Given the description of an element on the screen output the (x, y) to click on. 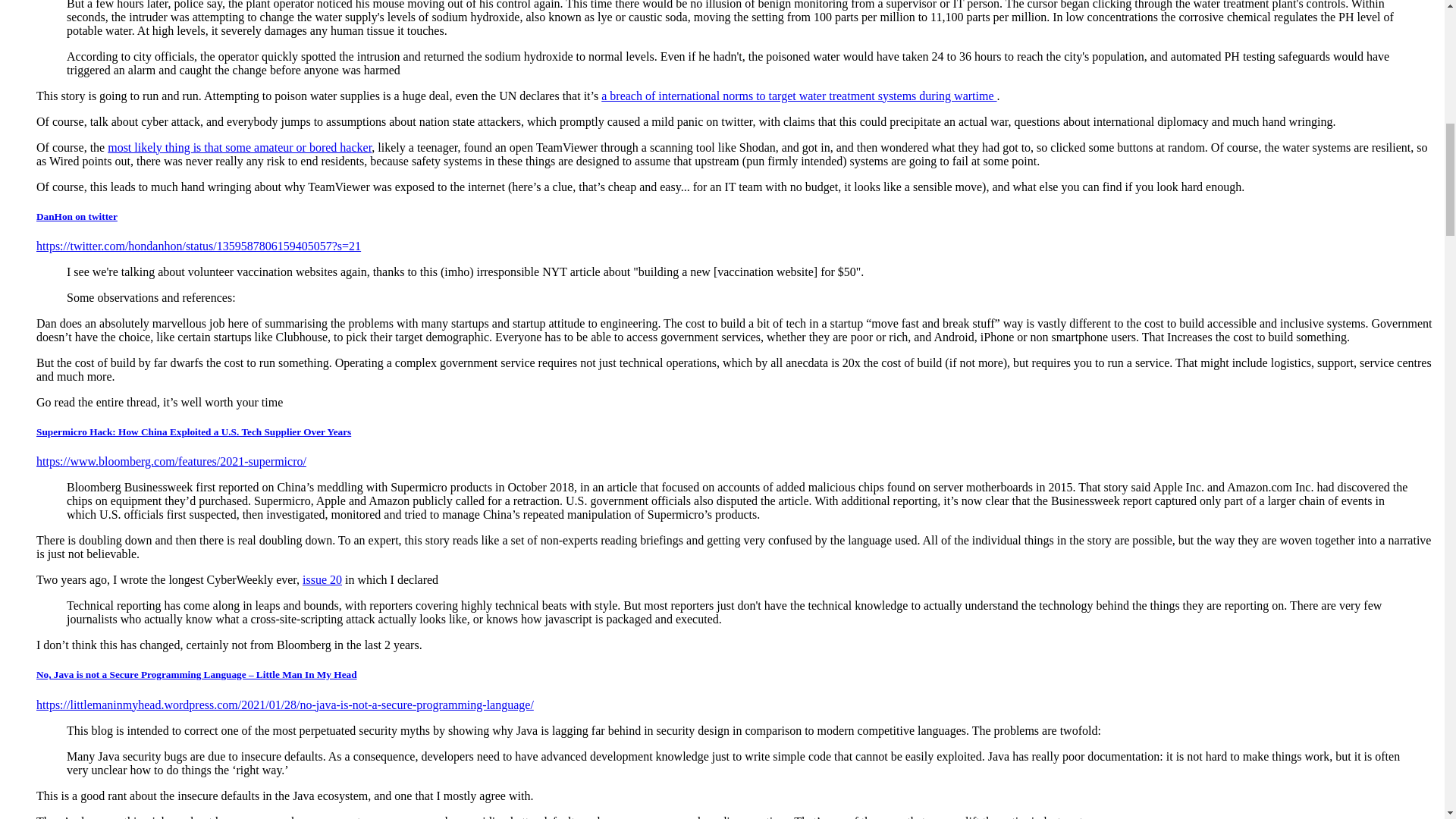
most likely thing is that some amateur or bored hacker (239, 146)
DanHon on twitter (76, 215)
issue 20 (322, 579)
